Given the description of an element on the screen output the (x, y) to click on. 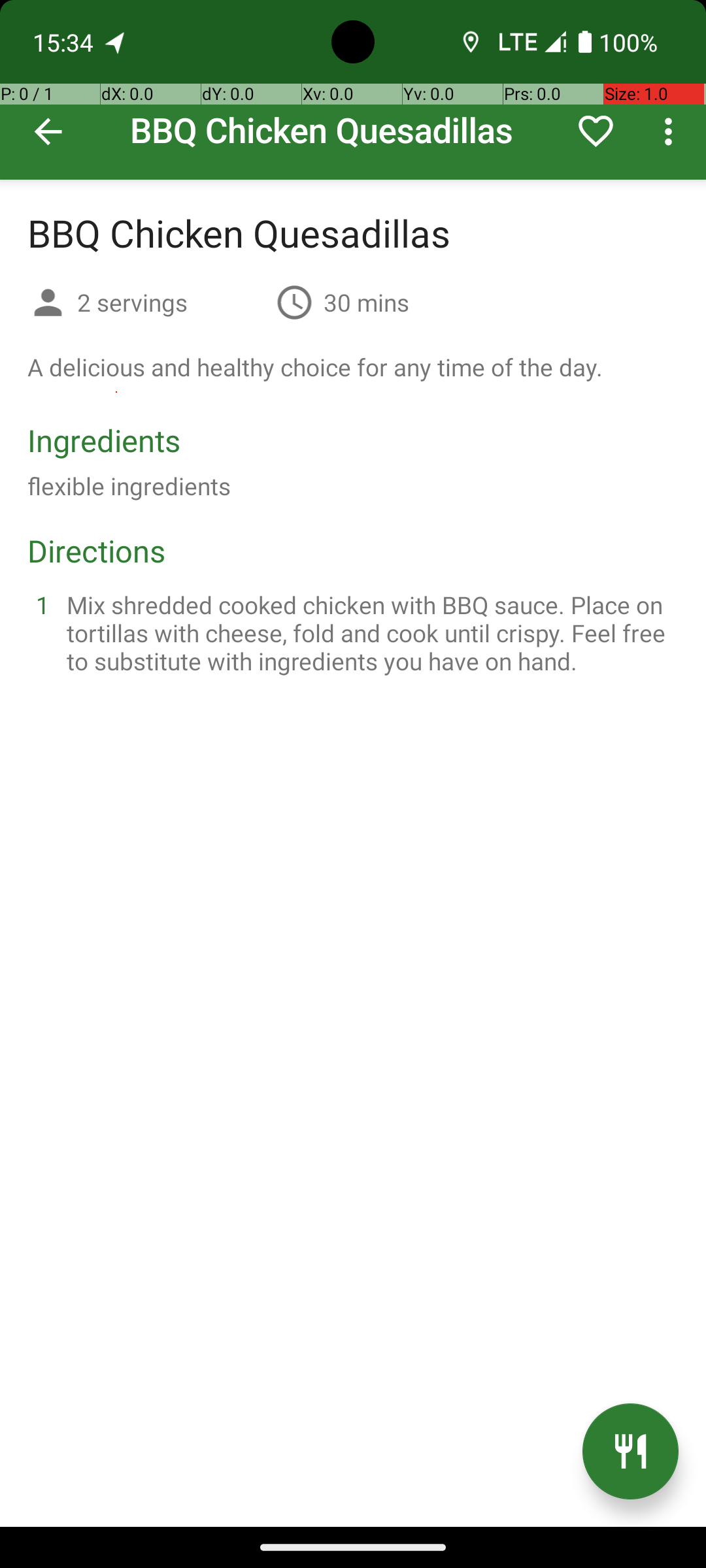
Mix shredded cooked chicken with BBQ sauce. Place on tortillas with cheese, fold and cook until crispy. Feel free to substitute with ingredients you have on hand. Element type: android.widget.TextView (368, 632)
